Given the description of an element on the screen output the (x, y) to click on. 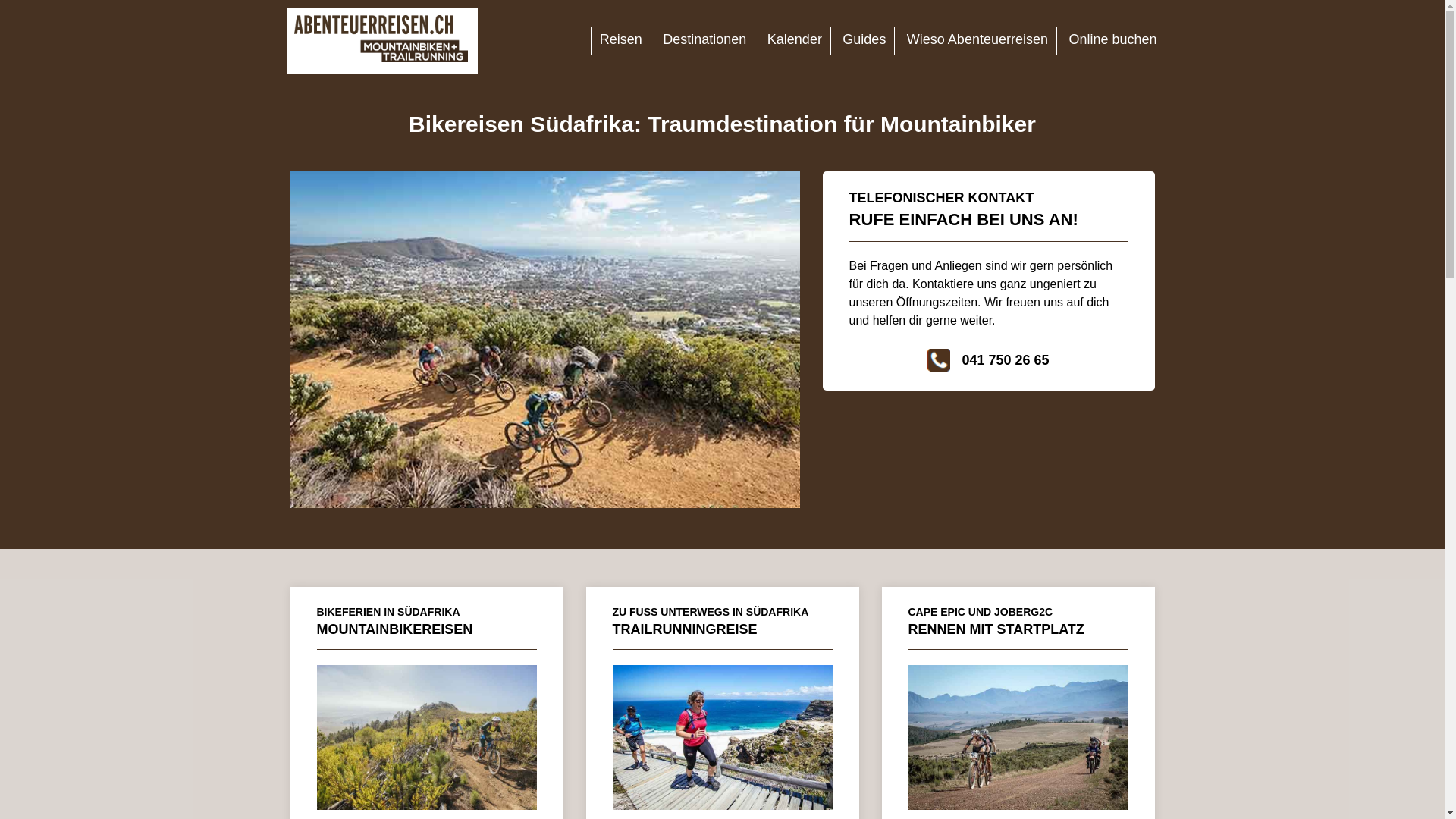
Guides Element type: text (863, 39)
Kalender Element type: text (794, 39)
Cape Epic Rennen Element type: hover (1018, 806)
Cape Epic Rennen Element type: hover (1018, 737)
Destinationen Element type: text (704, 39)
Online buchen Element type: text (1112, 39)
Wieso Abenteuerreisen Element type: text (977, 39)
Reisen Element type: text (620, 39)
